Given the description of an element on the screen output the (x, y) to click on. 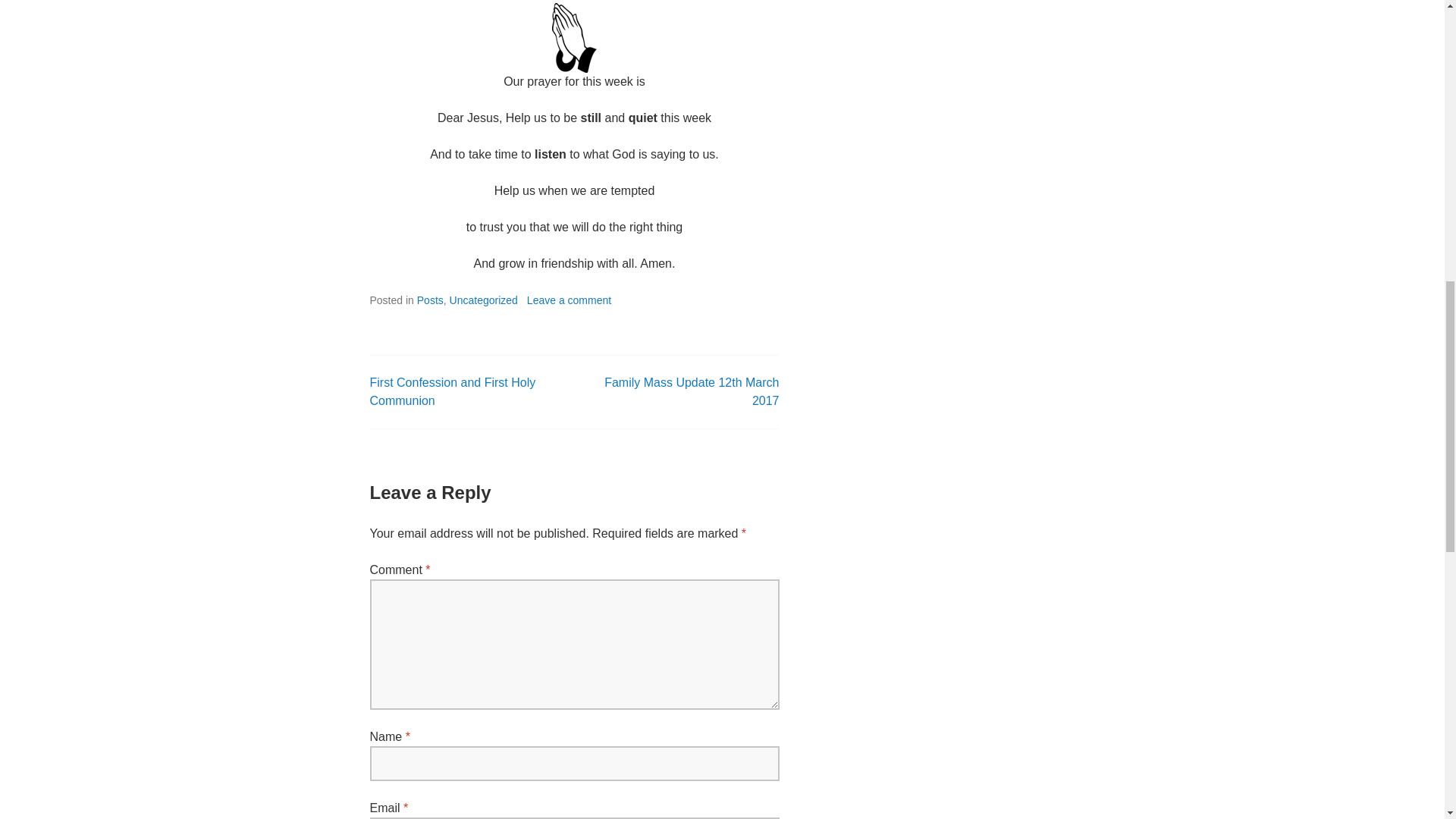
Leave a comment (569, 300)
First Confession and First Holy Communion (452, 391)
Uncategorized (483, 300)
Family Mass Update 12th March 2017 (691, 391)
Posts (430, 300)
